Given the description of an element on the screen output the (x, y) to click on. 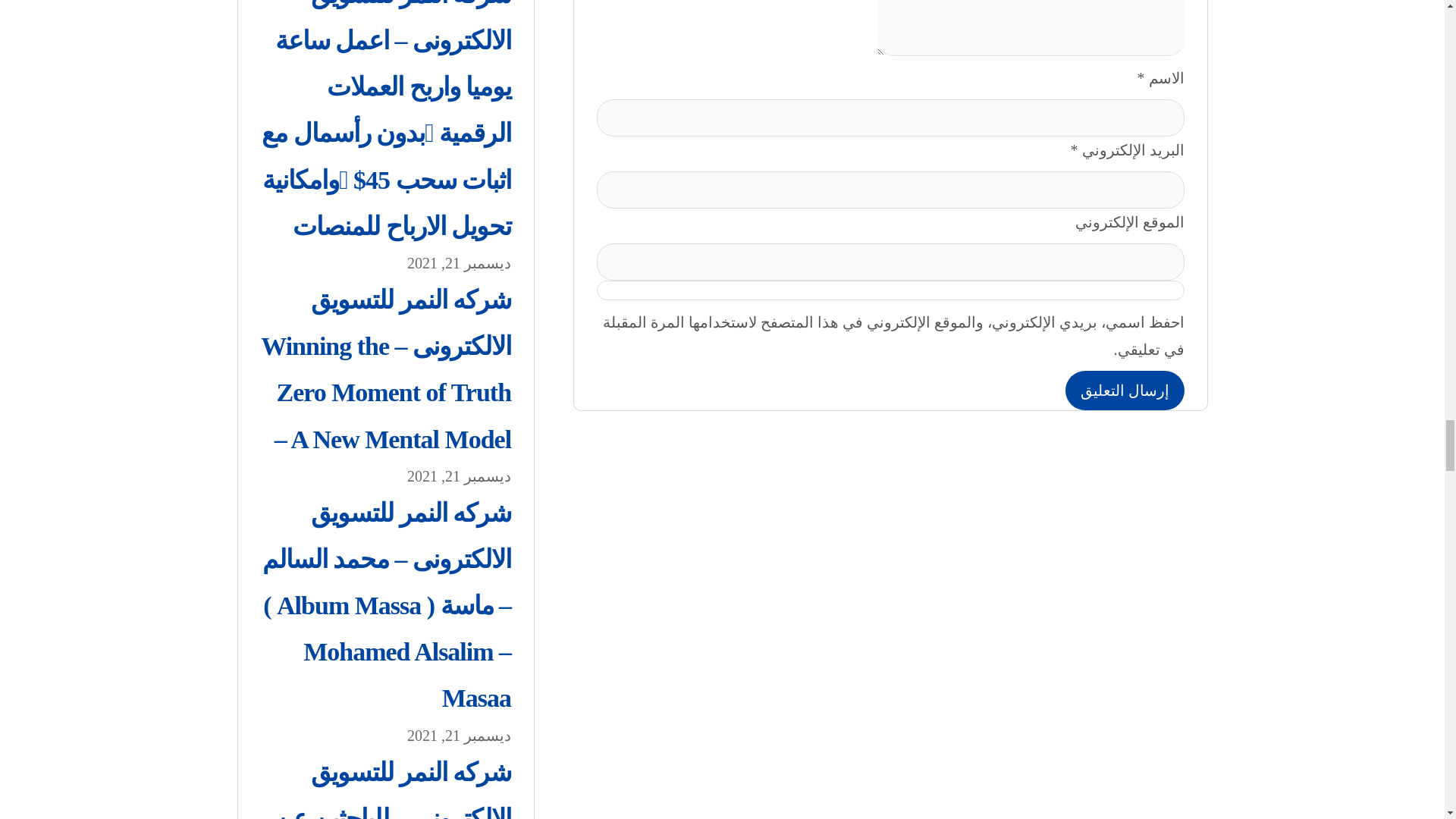
yes (889, 290)
